Given the description of an element on the screen output the (x, y) to click on. 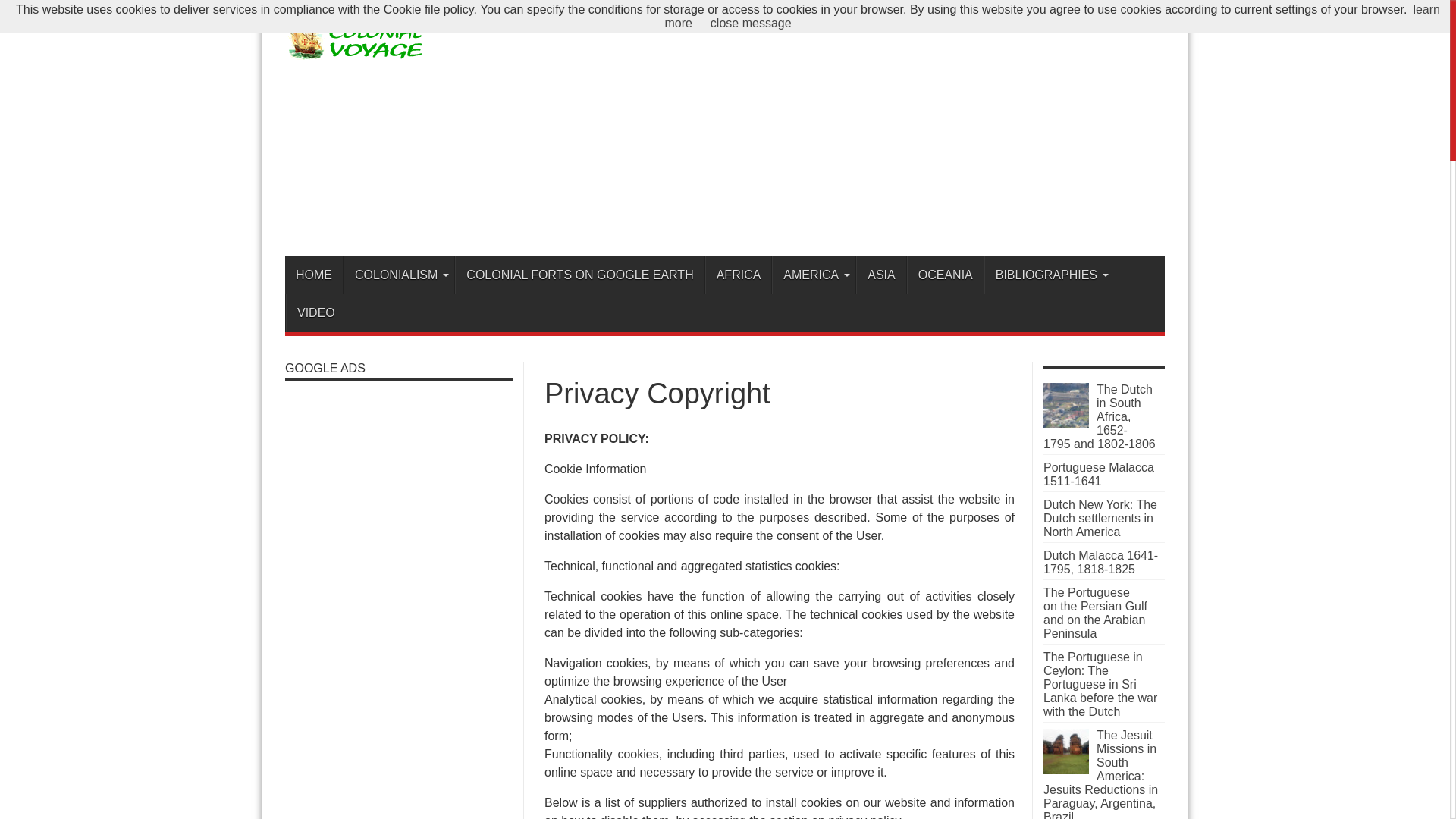
ASIA (880, 275)
BIBLIOGRAPHIES (1048, 275)
COLONIAL FORTS ON GOOGLE EARTH (578, 275)
AFRICA (737, 275)
VIDEO (315, 313)
OCEANIA (945, 275)
AMERICA (813, 275)
Colonial Voyage (357, 53)
Advertisement (888, 131)
